Given the description of an element on the screen output the (x, y) to click on. 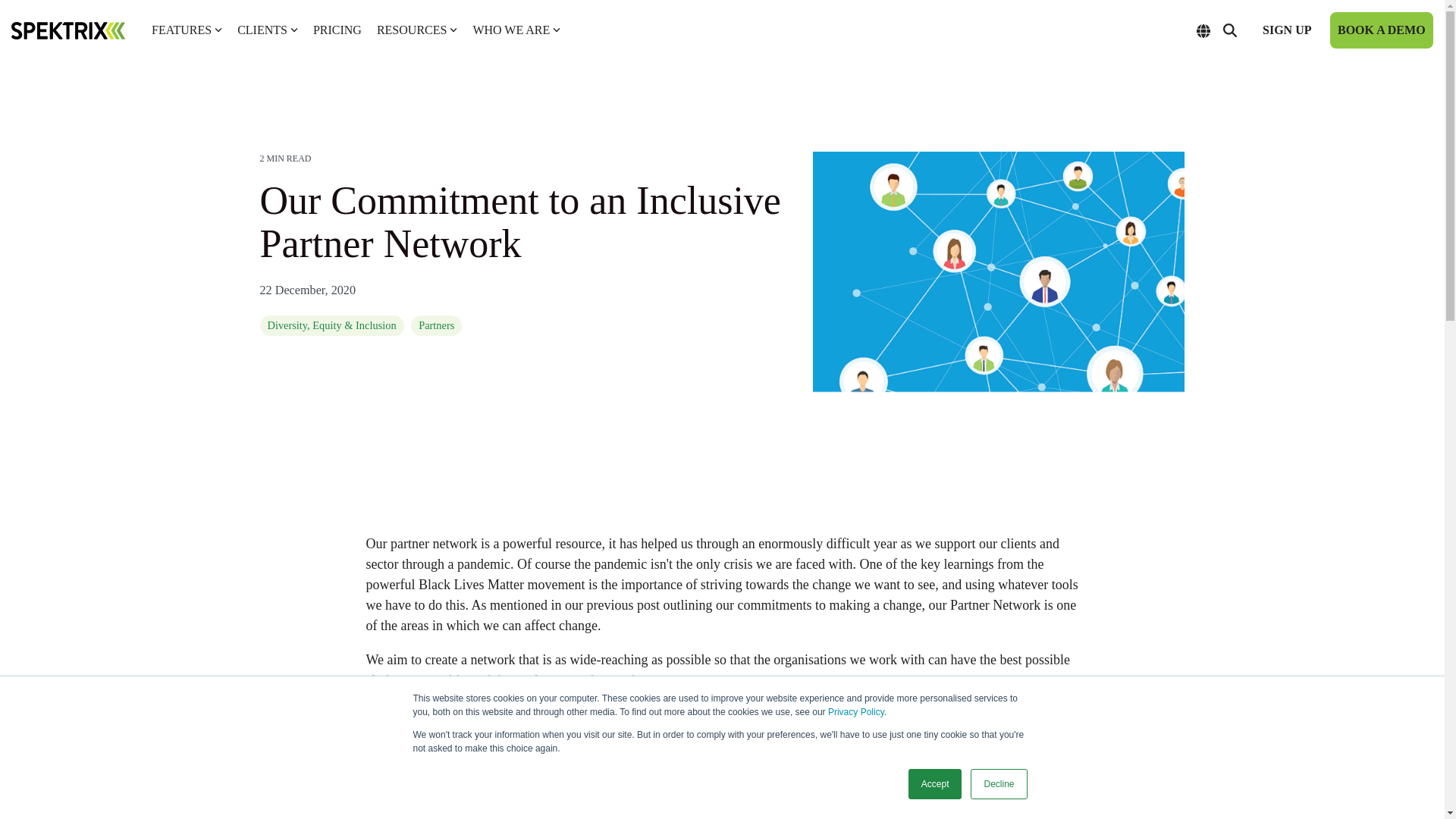
WHO WE ARE (515, 30)
Spektrix (68, 30)
CLIENTS (267, 30)
book a demo (1381, 30)
Decline (998, 784)
PRICING (337, 30)
RESOURCES (417, 30)
FEATURES (186, 30)
Privacy Policy (855, 711)
